Given the description of an element on the screen output the (x, y) to click on. 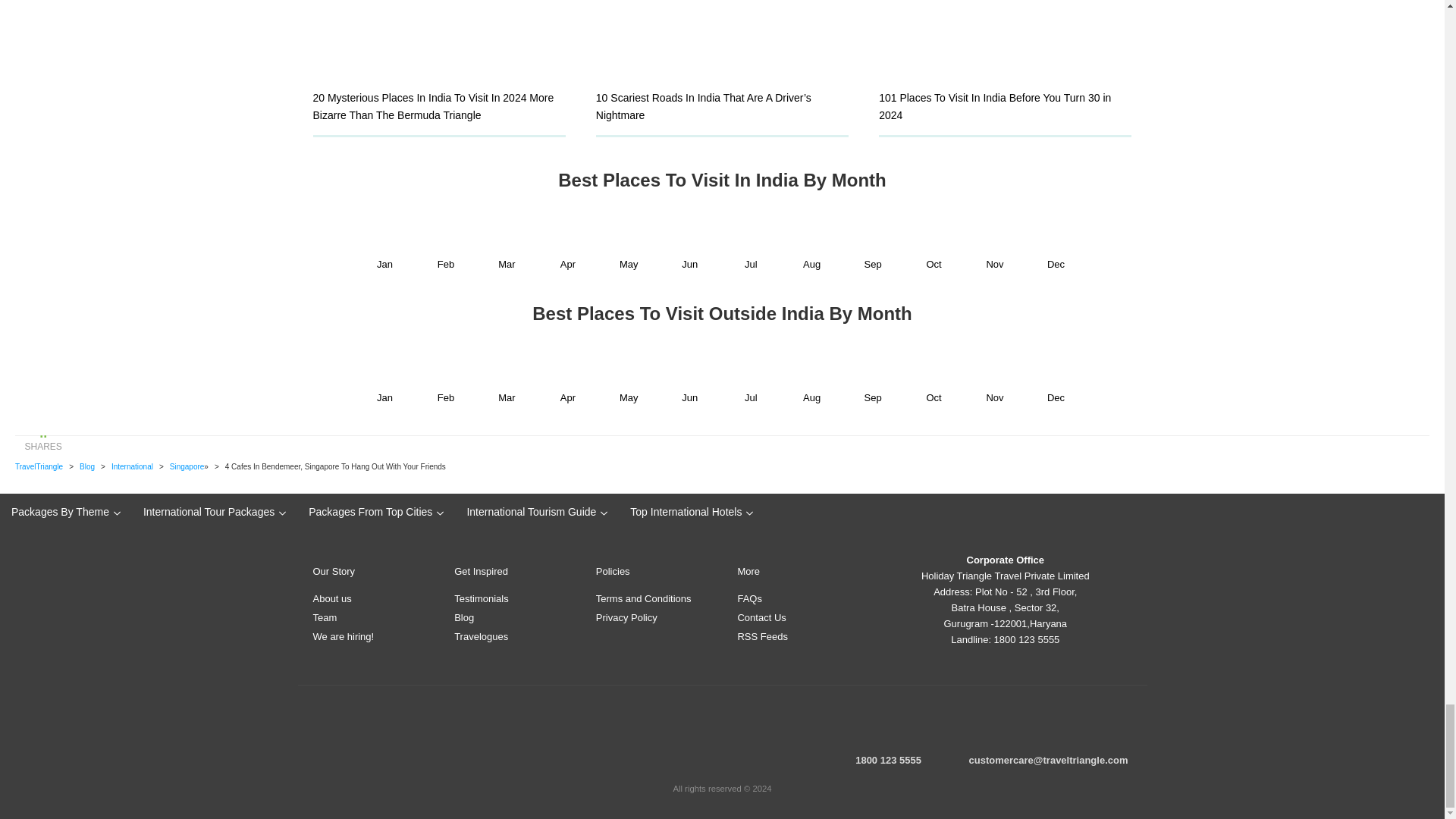
Blog (87, 466)
International (132, 466)
TravelTriangle (38, 466)
View all posts in Singapore (187, 466)
